Given the description of an element on the screen output the (x, y) to click on. 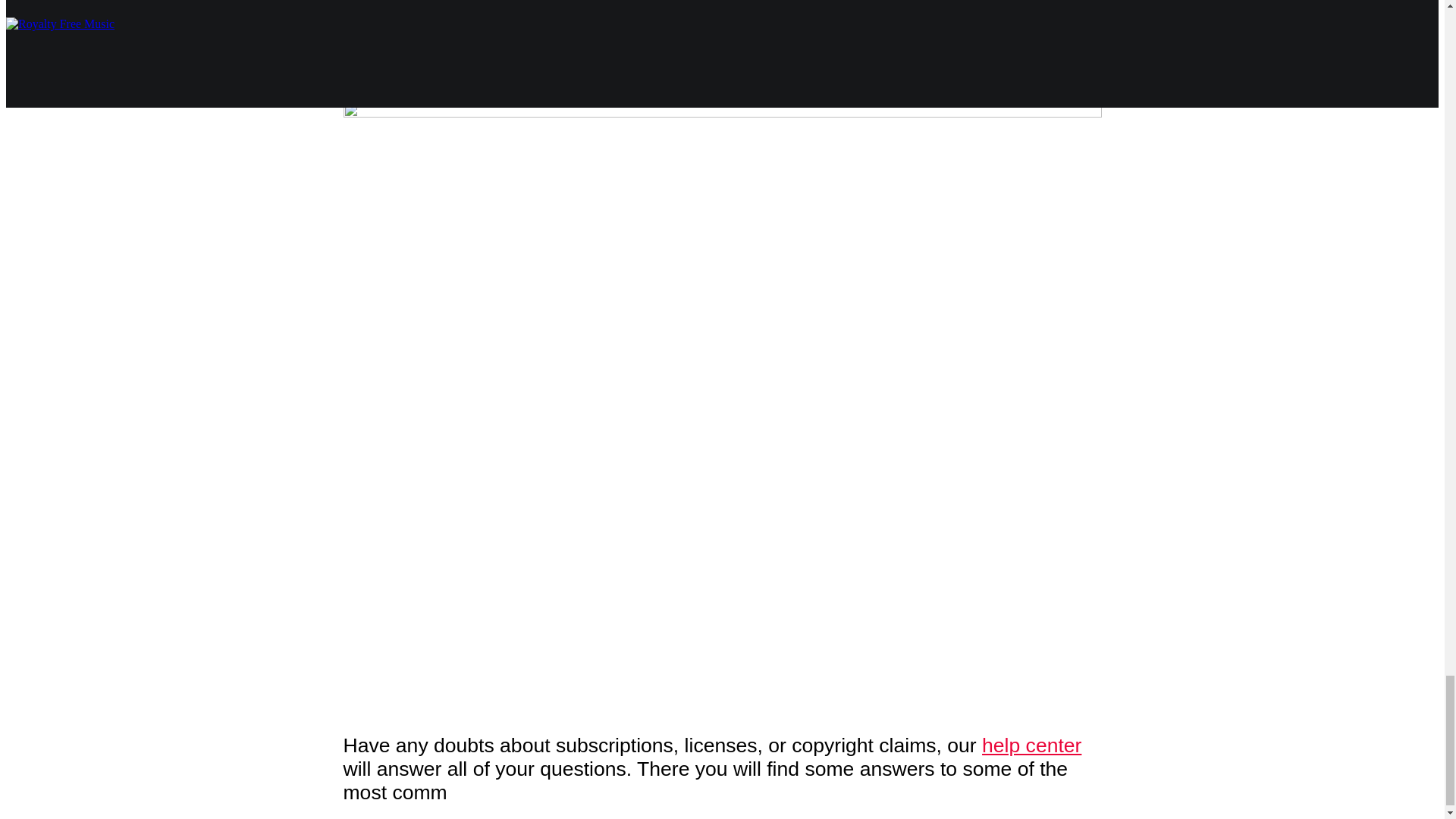
help center (1031, 744)
